Given the description of an element on the screen output the (x, y) to click on. 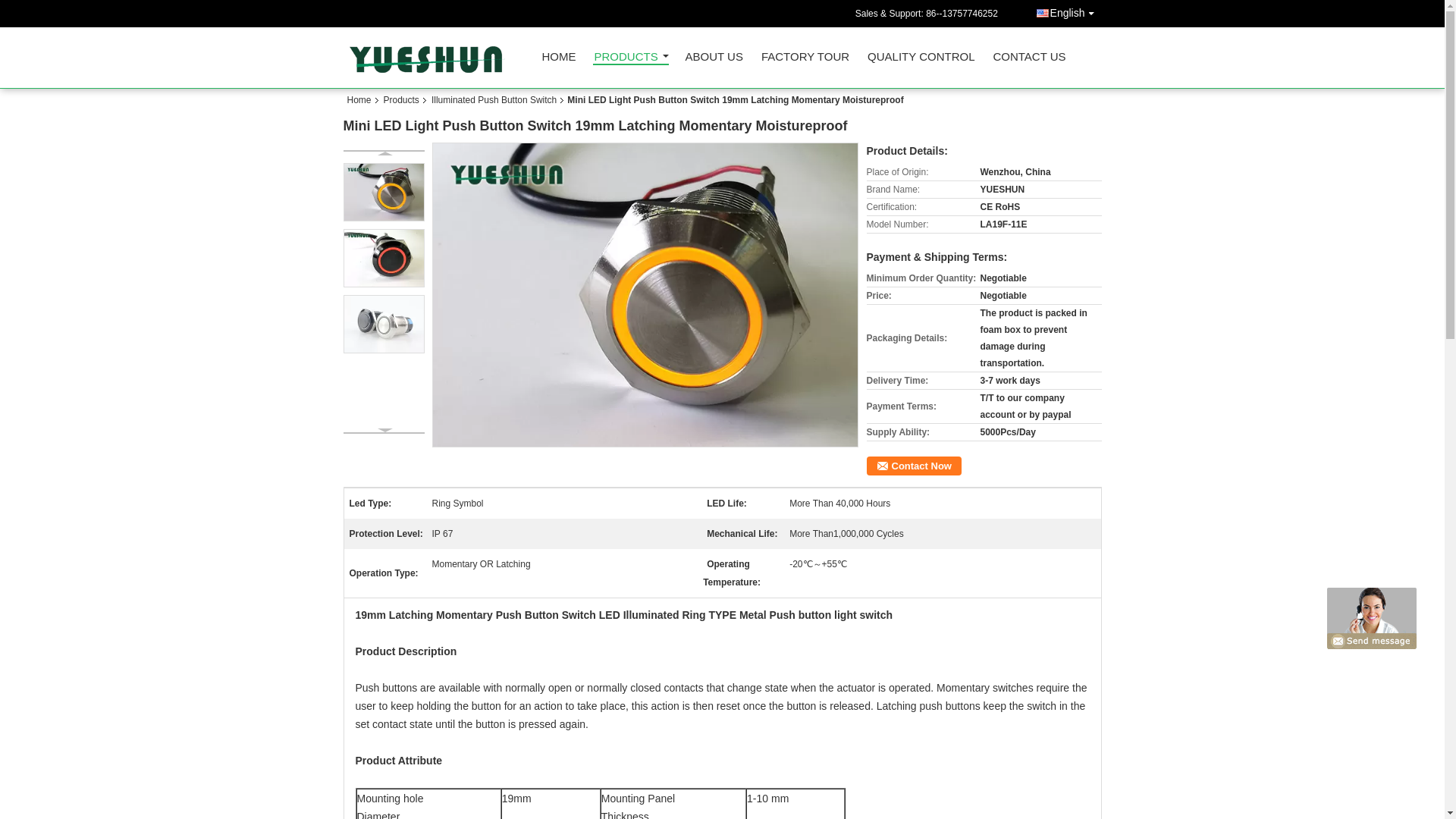
English (1067, 11)
PRODUCTS (630, 58)
HOME (558, 59)
